Given the description of an element on the screen output the (x, y) to click on. 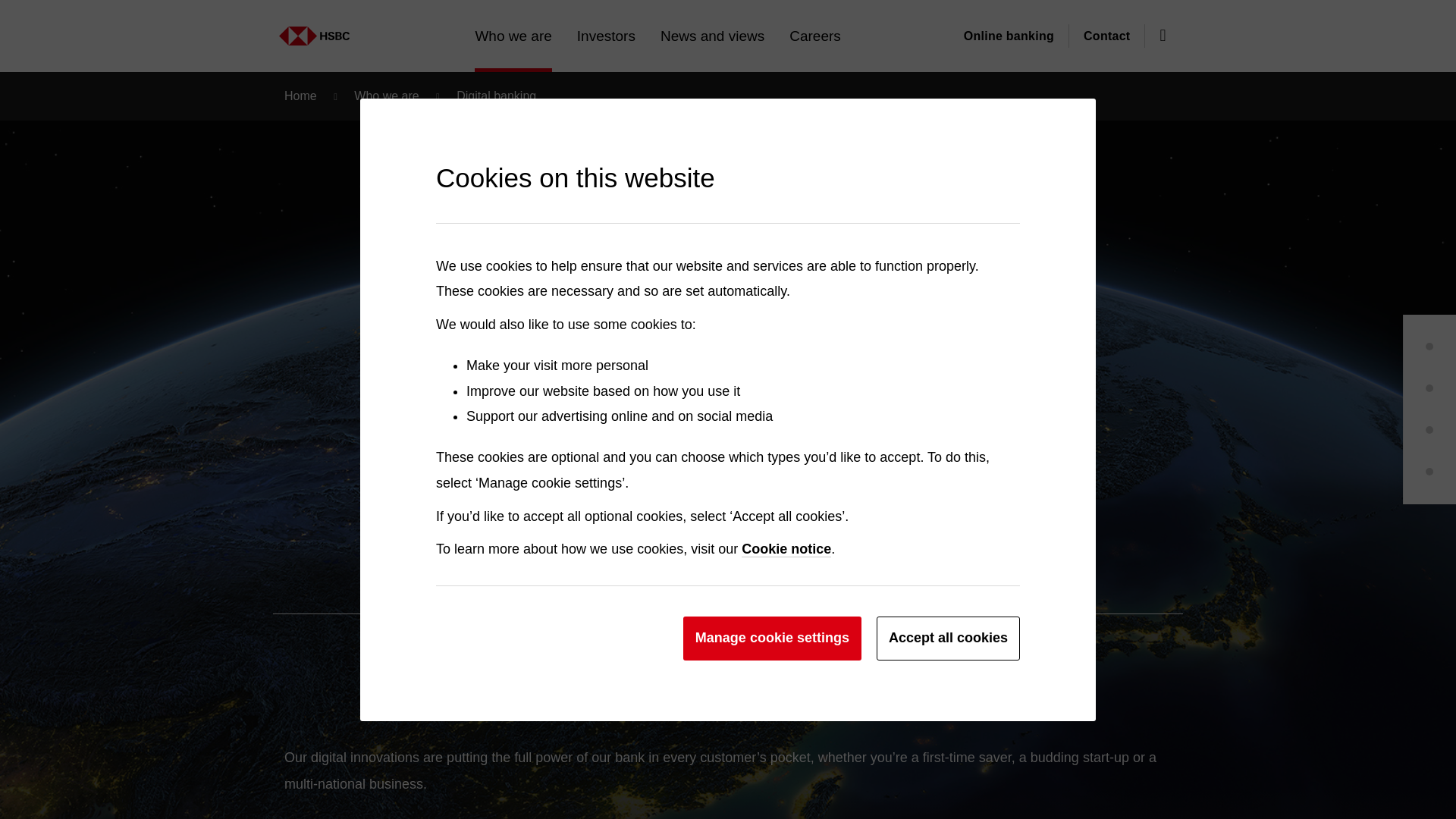
Home (280, 28)
Who we are (364, 28)
